Given the description of an element on the screen output the (x, y) to click on. 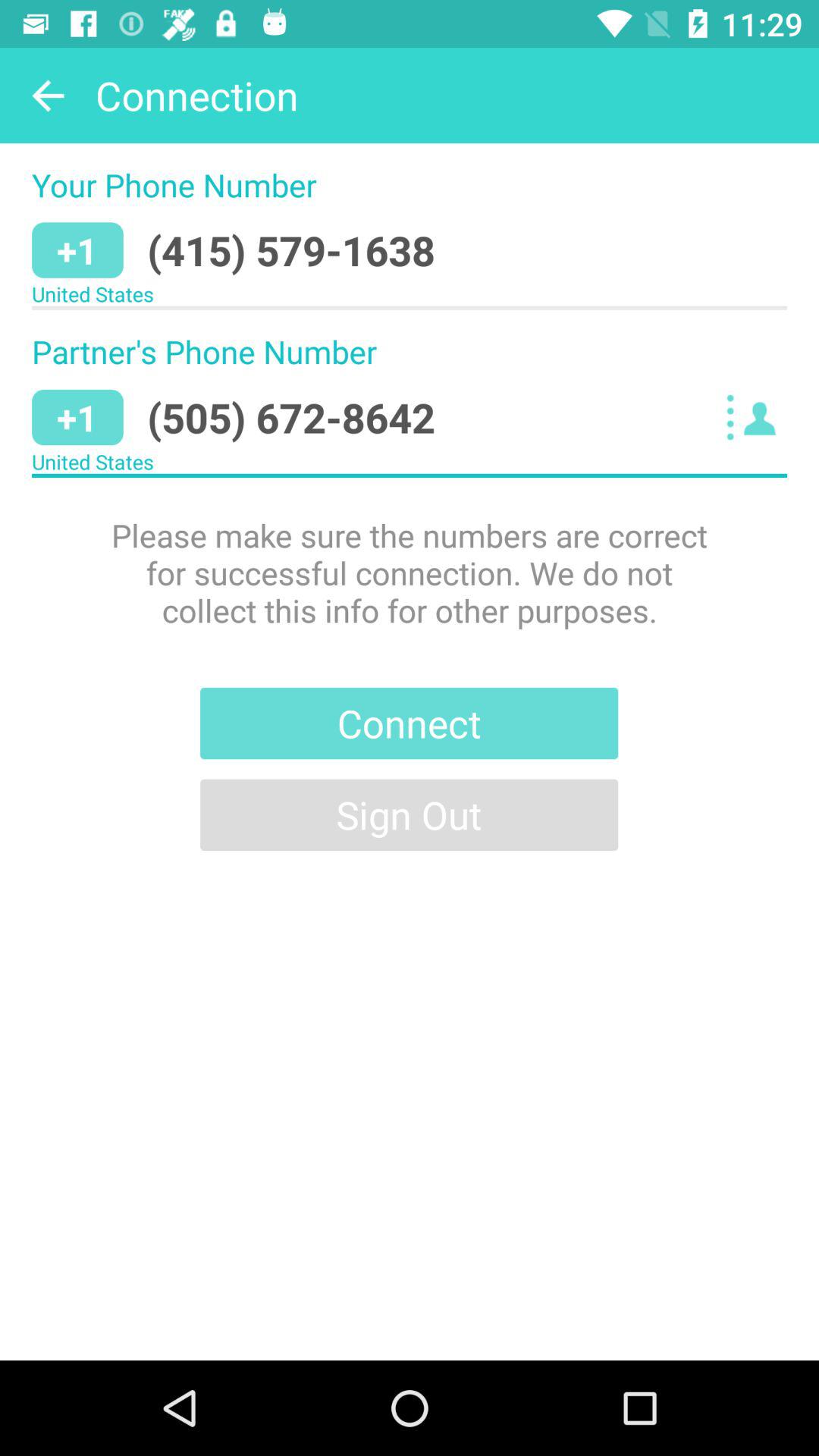
launch icon above the your phone number item (47, 95)
